Given the description of an element on the screen output the (x, y) to click on. 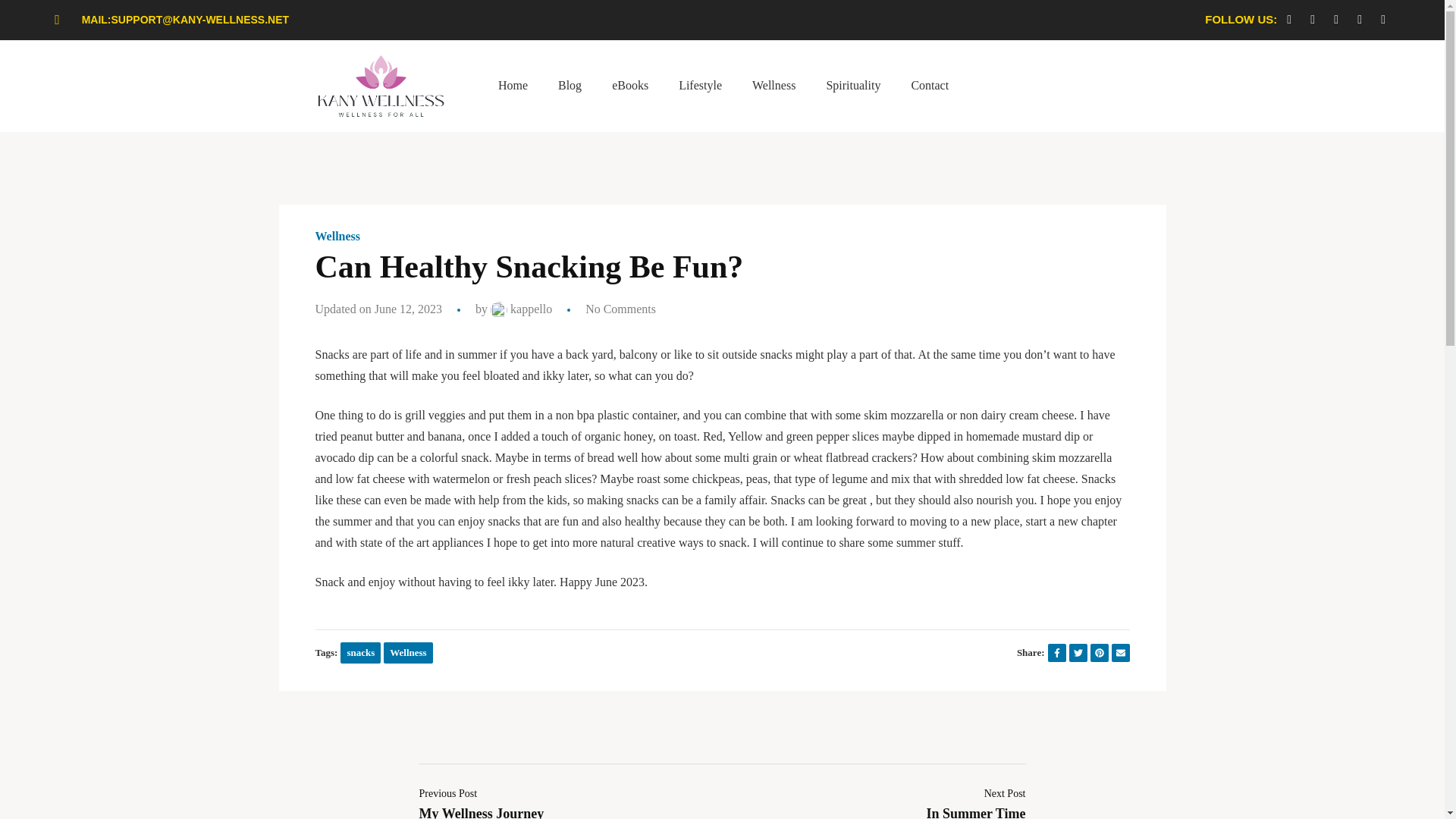
Wellness (408, 652)
Wellness (773, 85)
kappello (520, 308)
Wellness (338, 236)
snacks (360, 652)
Home (513, 85)
Lifestyle (699, 85)
Contact (929, 85)
Blog (569, 85)
No Comments (620, 308)
